Given the description of an element on the screen output the (x, y) to click on. 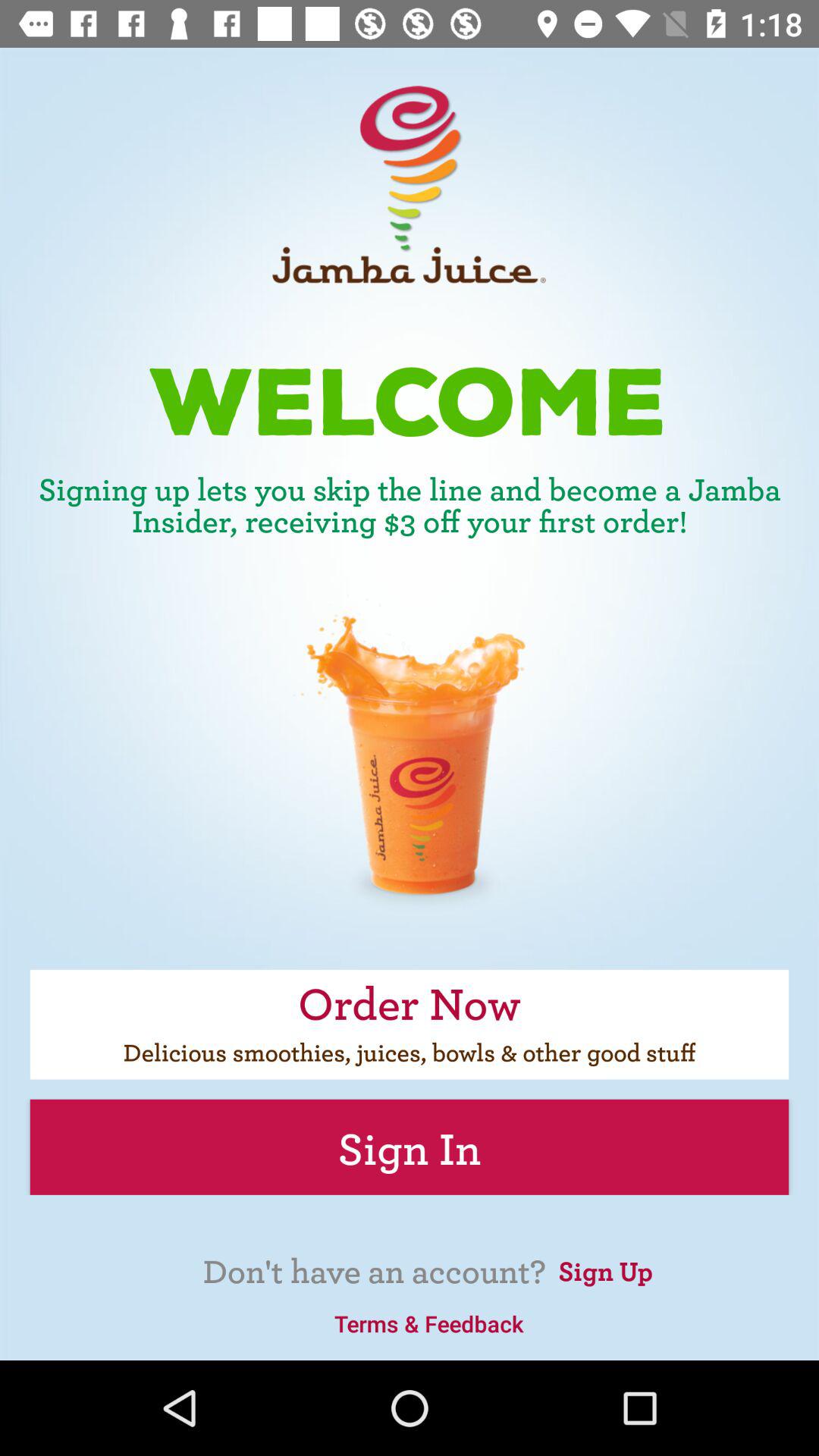
turn off the icon below sign in (605, 1268)
